Given the description of an element on the screen output the (x, y) to click on. 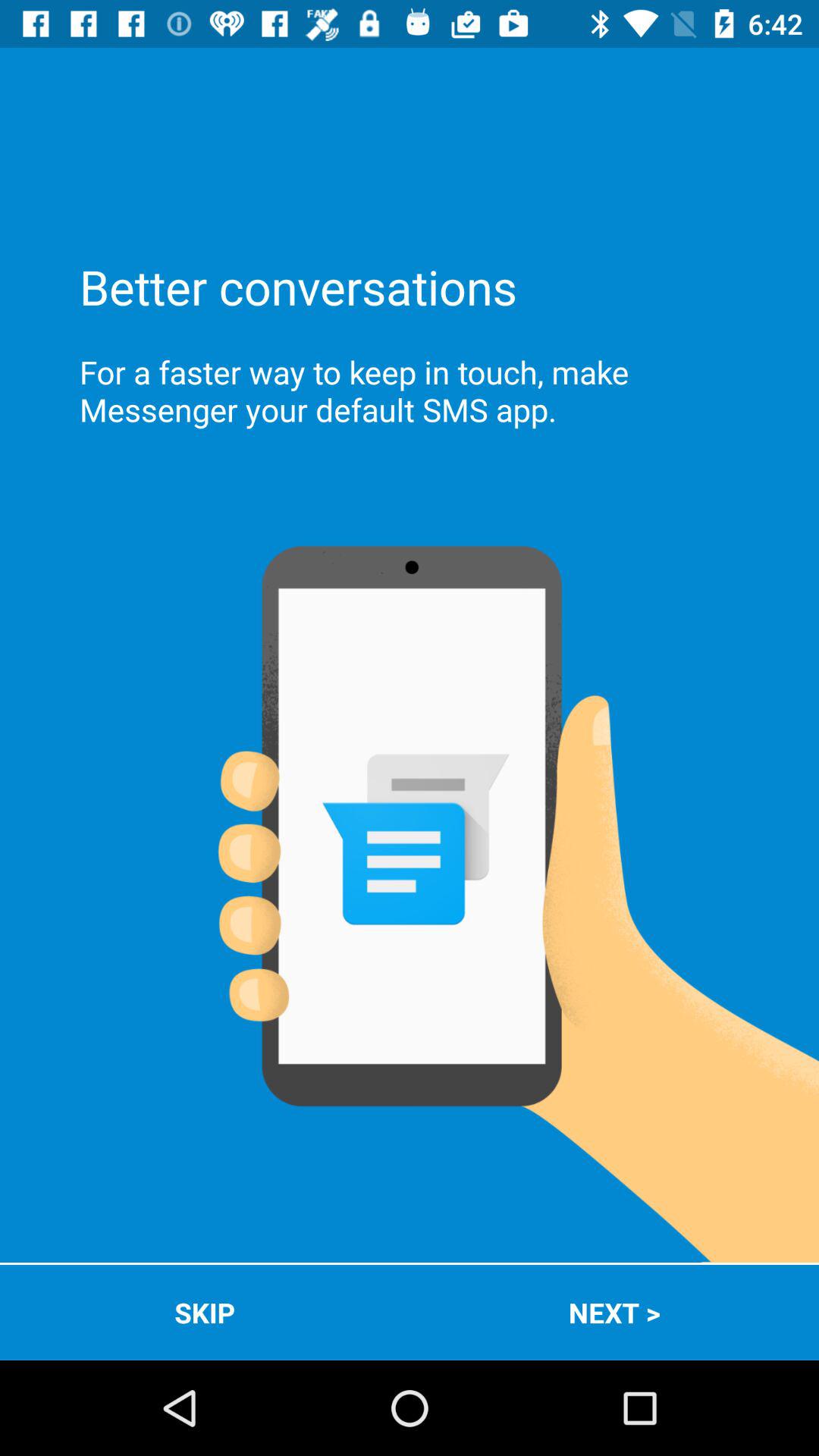
scroll to skip app (204, 1312)
